Given the description of an element on the screen output the (x, y) to click on. 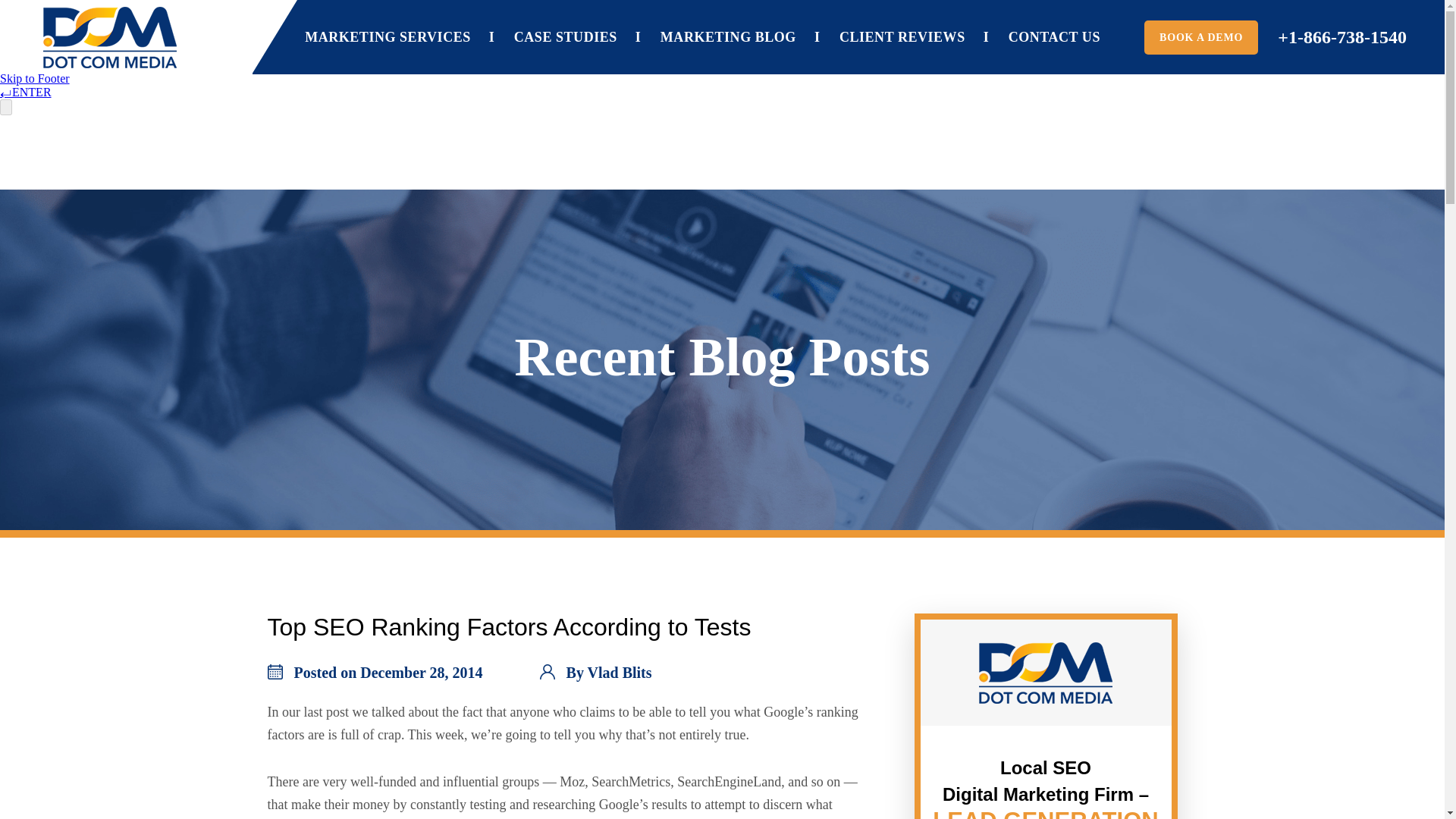
MARKETING SERVICES (387, 37)
Vlad Blits (620, 672)
BOOK A DEMO (1200, 37)
